Given the description of an element on the screen output the (x, y) to click on. 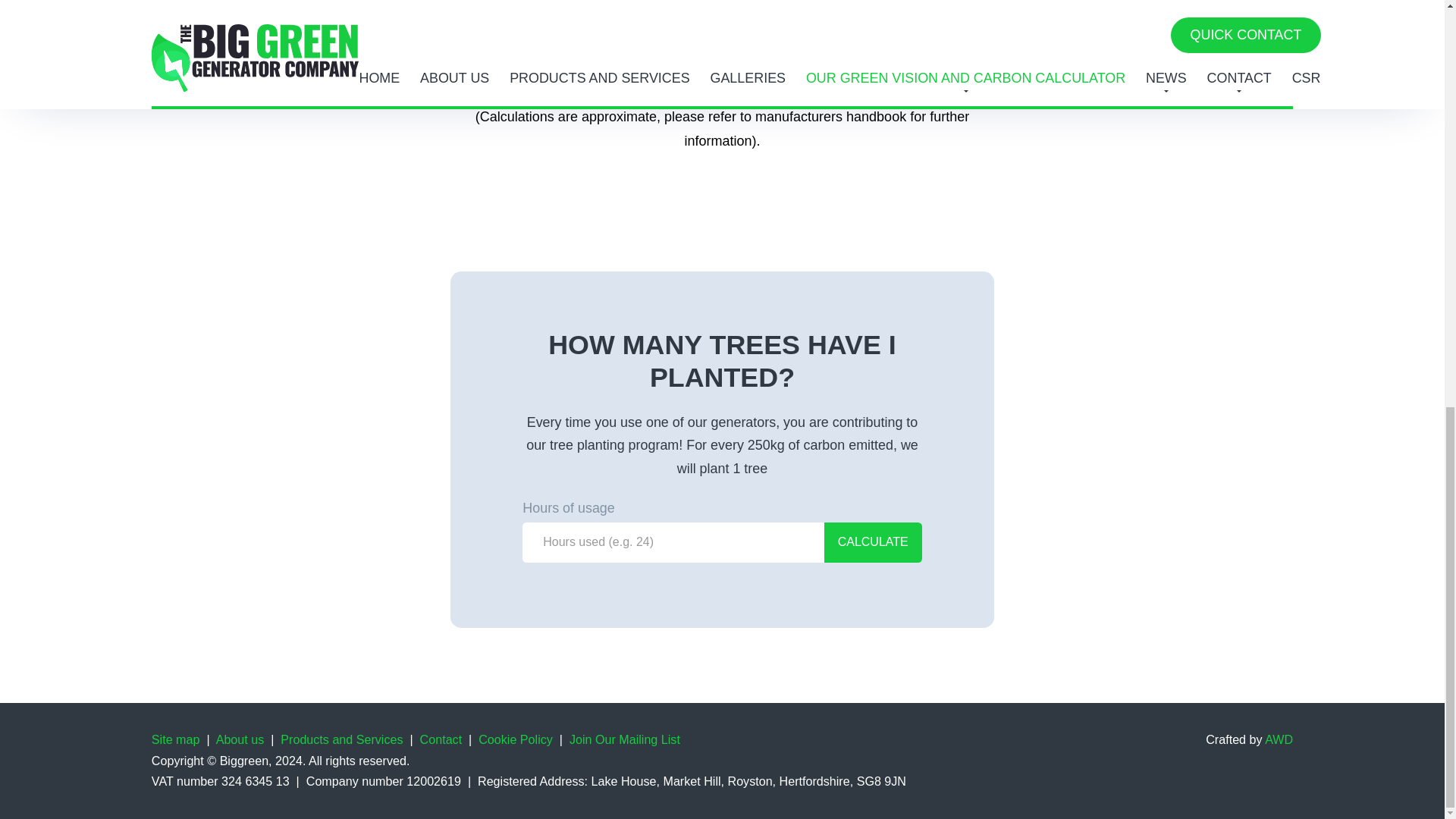
Join Our Mailing List (624, 739)
CALCULATE (872, 542)
Site map (175, 739)
AWD (1278, 739)
Contact (441, 739)
About us (239, 739)
Cookie Policy (516, 739)
Products and Services (342, 739)
